Given the description of an element on the screen output the (x, y) to click on. 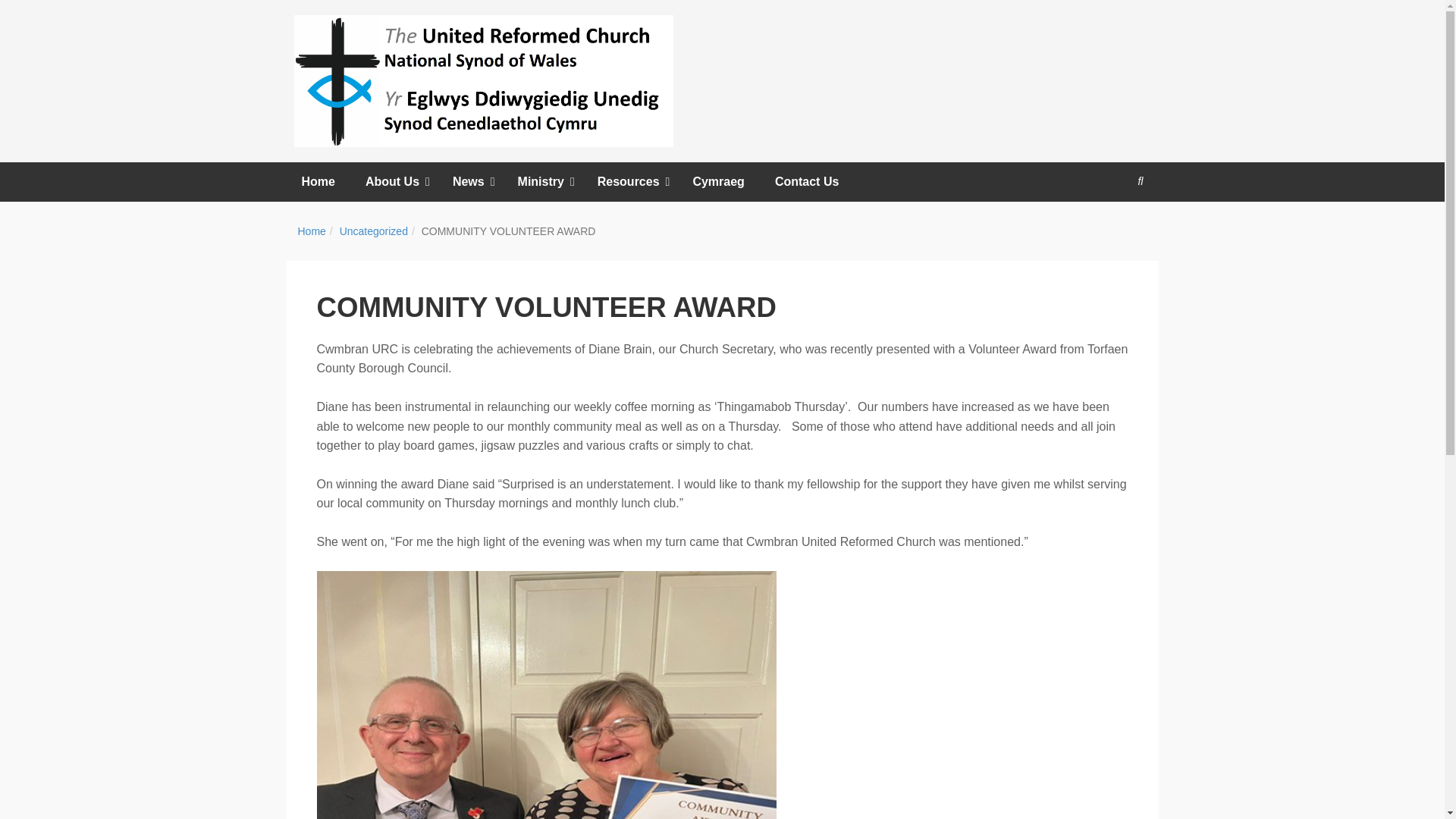
URC Wales Synod (483, 81)
About Us (394, 181)
Home (310, 231)
Contact Us (806, 181)
Home (318, 181)
Cymraeg (717, 181)
Home (310, 231)
News (470, 181)
Uncategorized (373, 231)
Resources (630, 181)
